Given the description of an element on the screen output the (x, y) to click on. 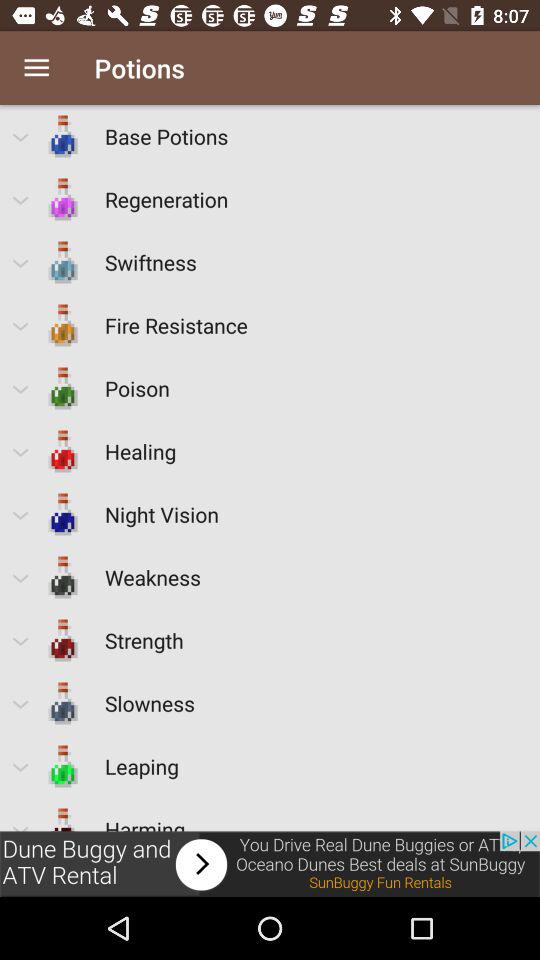
select the bottle before night vision (63, 514)
select the icon which is left to leaping (63, 766)
click on the image to the left of harming text (63, 814)
click on the image to the left of healing text (63, 451)
select the icon which is left to the text base potions (63, 136)
